Given the description of an element on the screen output the (x, y) to click on. 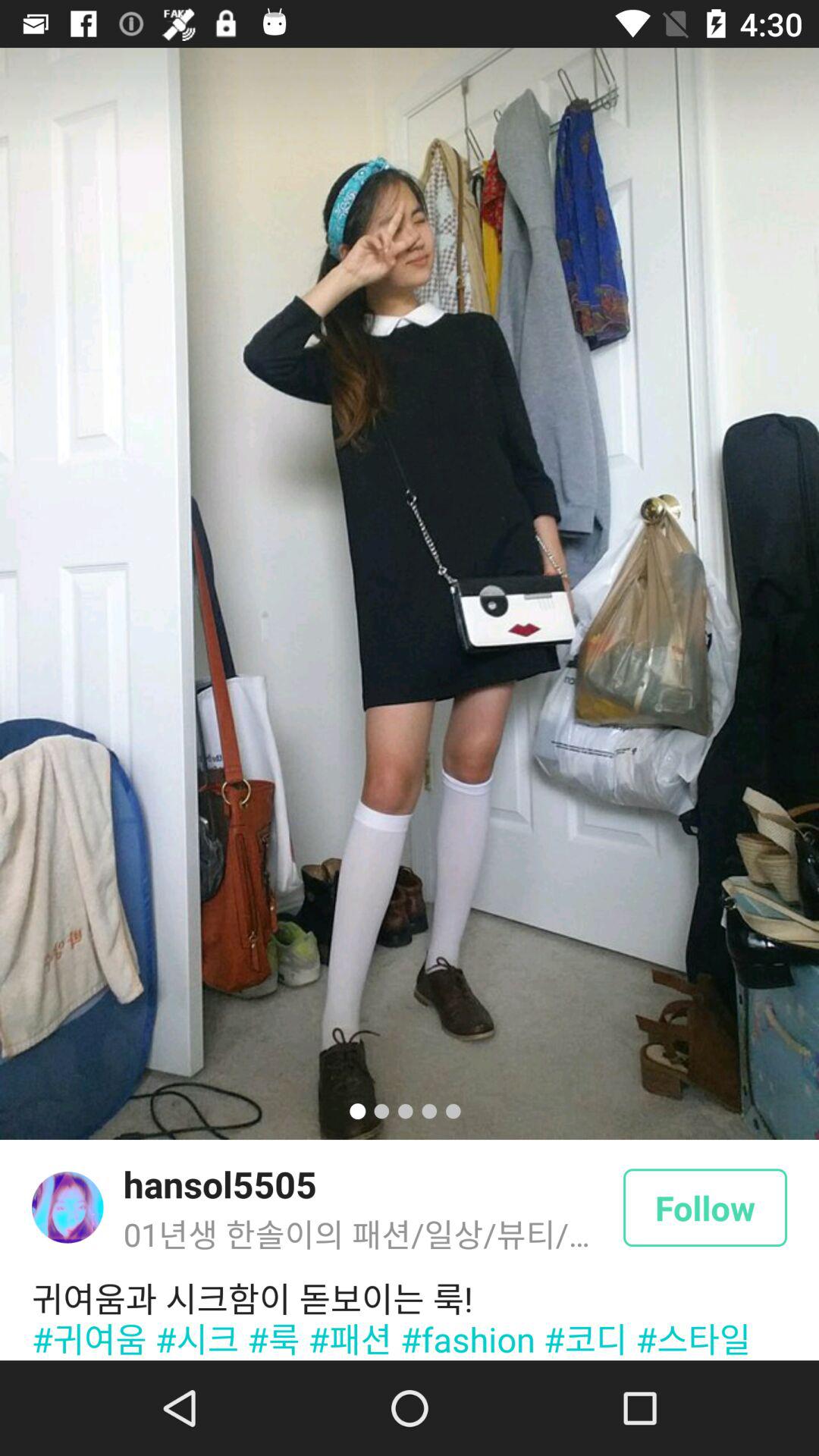
jump until follow item (705, 1207)
